Given the description of an element on the screen output the (x, y) to click on. 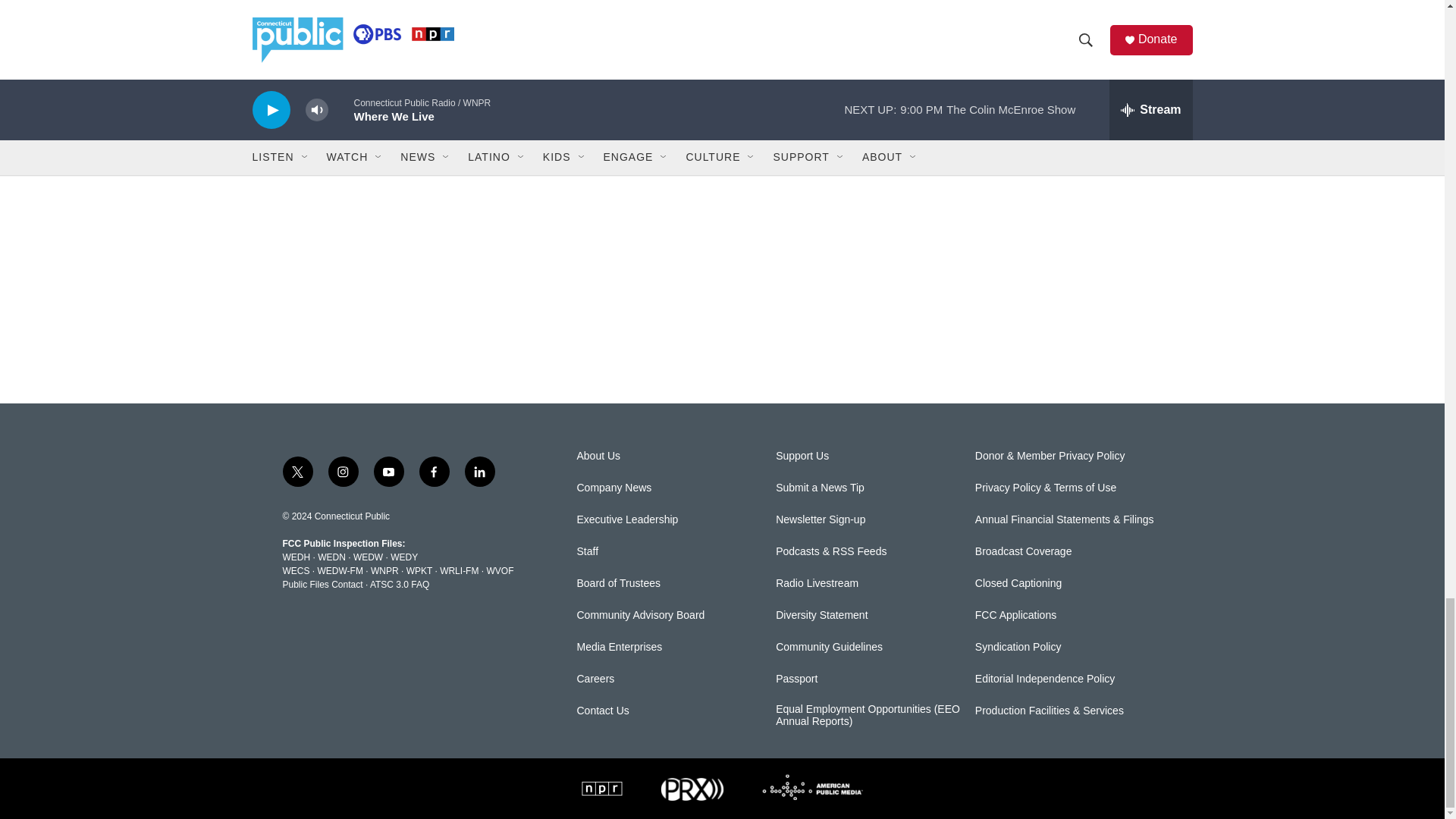
3rd party ad content (1062, 69)
3rd party ad content (1062, 262)
